Given the description of an element on the screen output the (x, y) to click on. 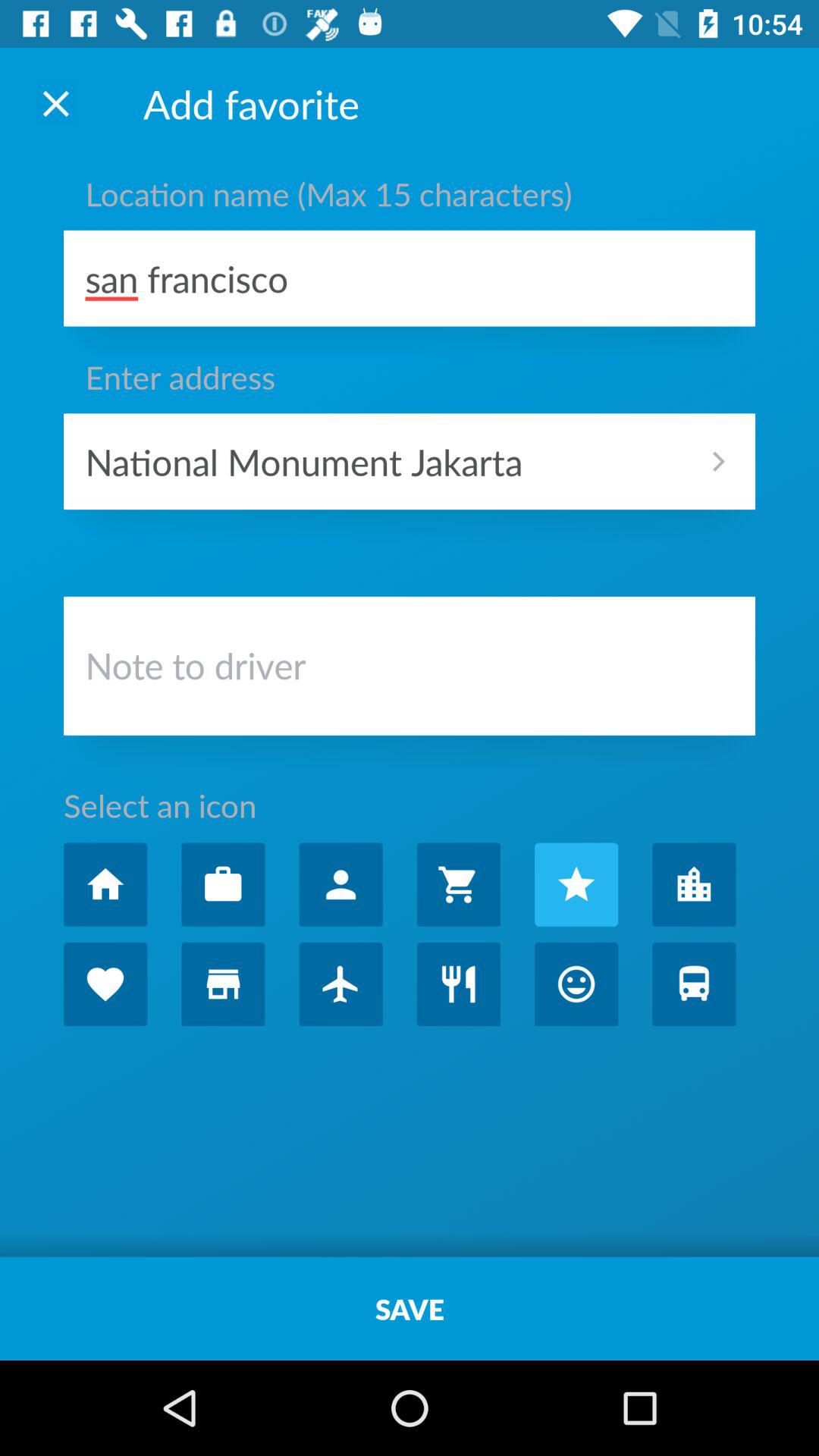
like button (105, 984)
